Given the description of an element on the screen output the (x, y) to click on. 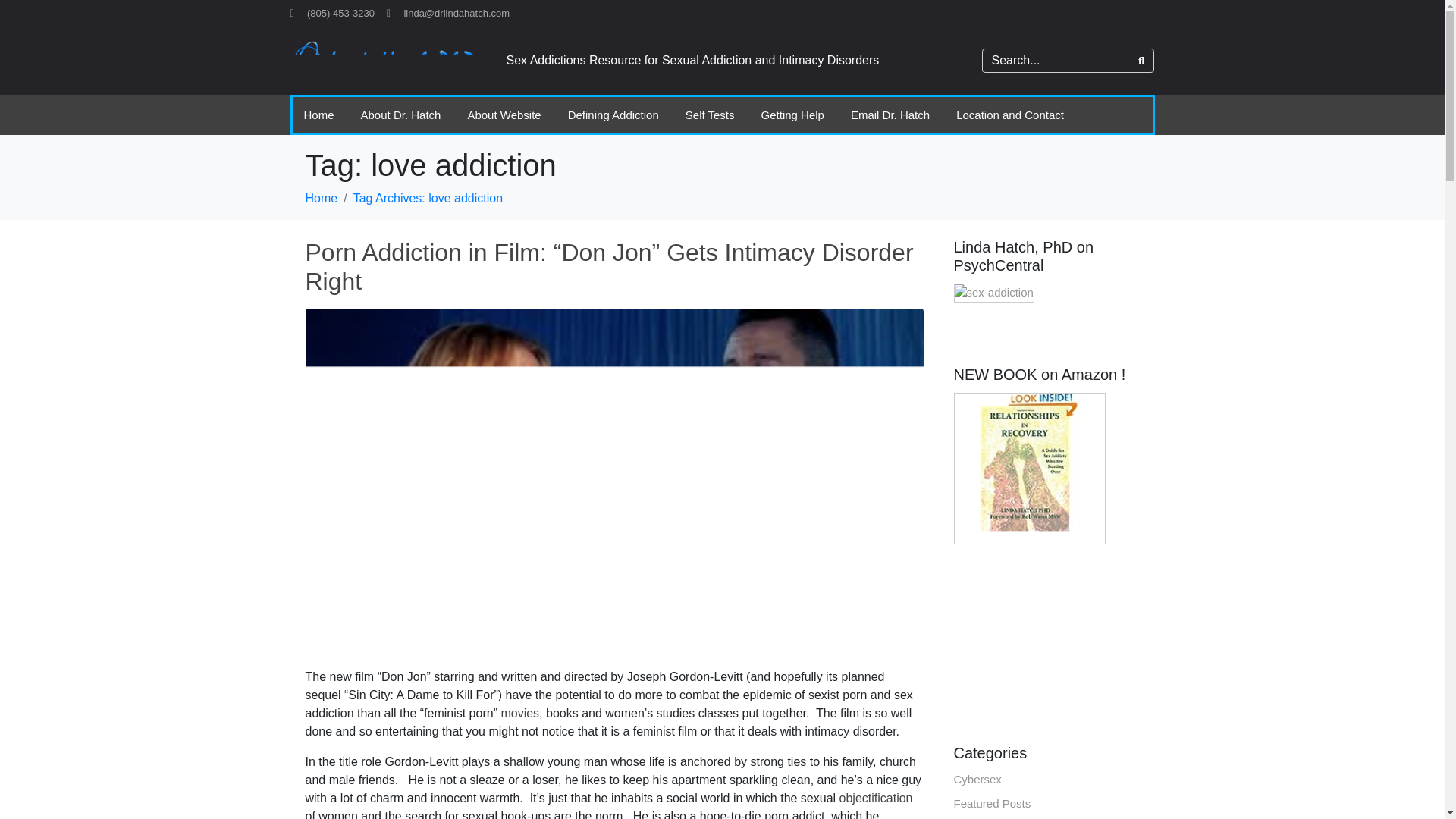
Linda Hatch's New Book on Amazon.com (1029, 466)
About Dr. Hatch (400, 114)
Email Dr. Hatch (890, 114)
Home (319, 114)
Getting Help (792, 114)
Self Tests (709, 114)
Home (320, 197)
About Website (503, 114)
My column at Psychcental.com (993, 291)
Location and Contact (1009, 114)
